Given the description of an element on the screen output the (x, y) to click on. 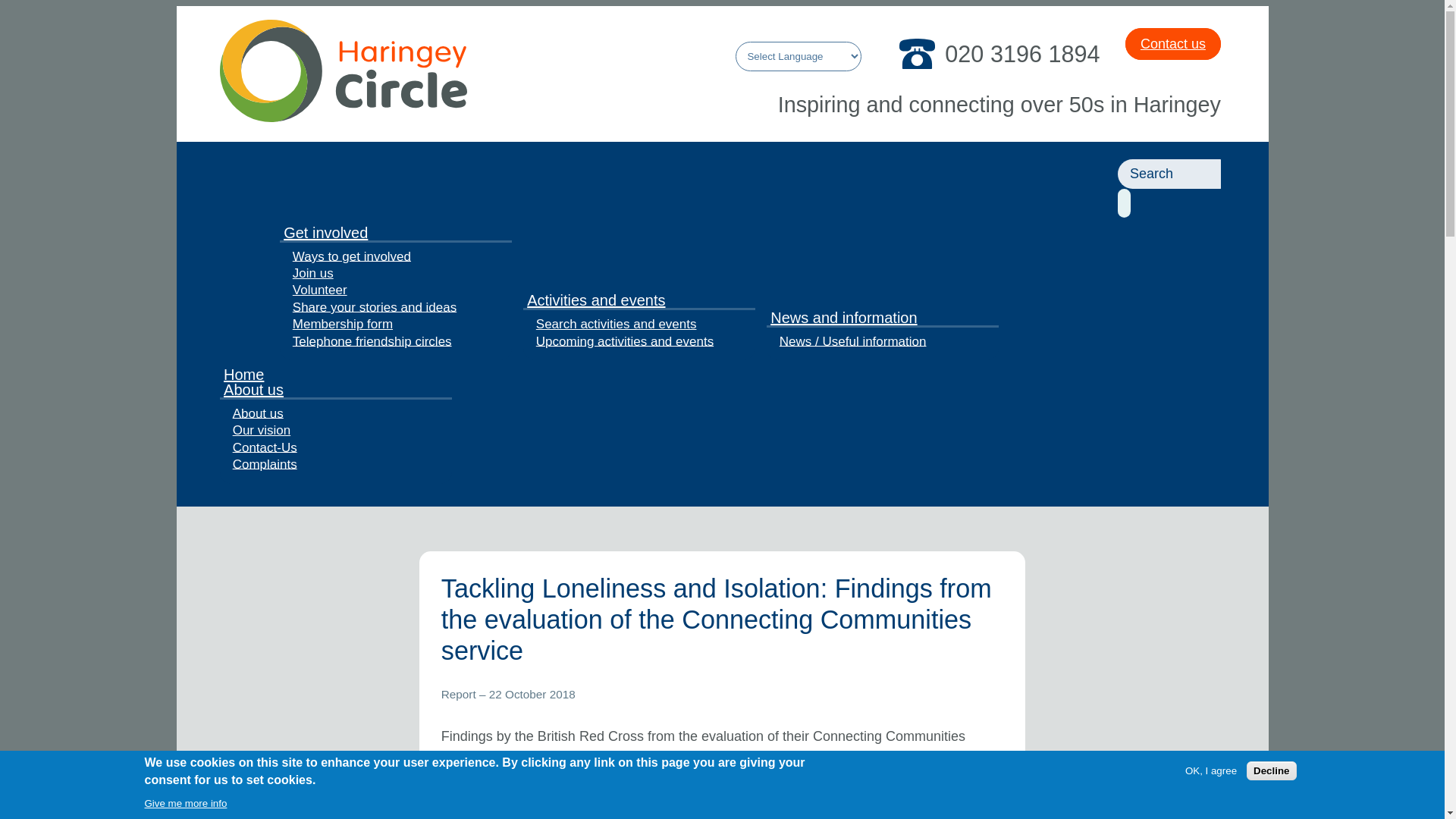
Complaints (264, 463)
About us (255, 390)
Share your stories and ideas (373, 307)
Telephone friendship circles (371, 340)
Get involved (327, 233)
Home (343, 117)
Upcoming activities and events (624, 340)
Membership form (342, 323)
Enter the terms you wish to search for. (1169, 173)
Ways to get involved (351, 256)
Contact-Us (264, 447)
Search activities and events (616, 323)
About us (258, 412)
Find out more about volunteering with us (319, 289)
